Given the description of an element on the screen output the (x, y) to click on. 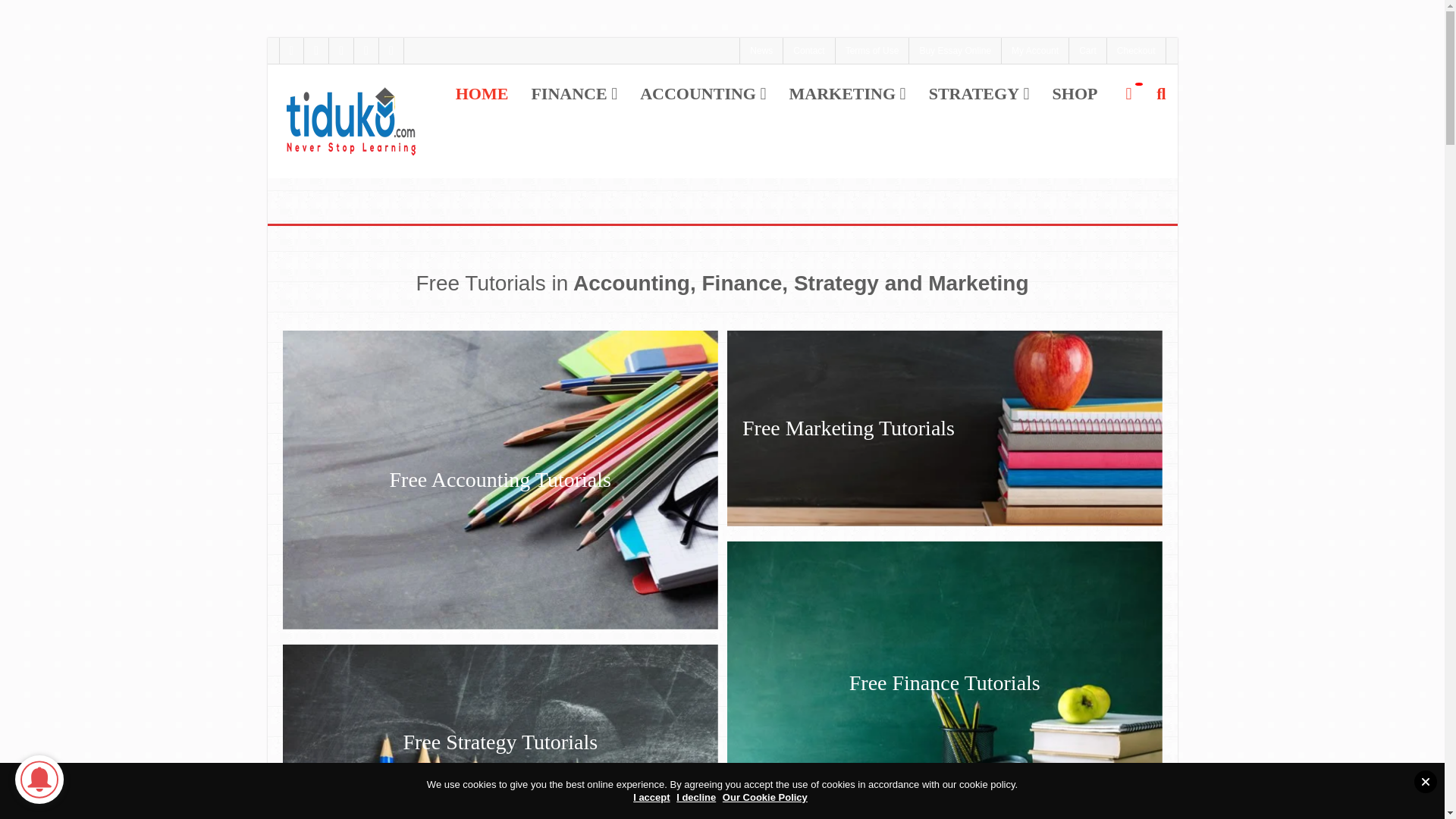
Checkout (1136, 50)
My Account (1034, 50)
ACCOUNTING (702, 93)
Terms of Use (872, 50)
Buy Essay Online (954, 50)
HOME (481, 93)
MARKETING (847, 93)
News (761, 50)
STRATEGY (978, 93)
FINANCE (574, 93)
Contact (808, 50)
Cart (1087, 50)
